Given the description of an element on the screen output the (x, y) to click on. 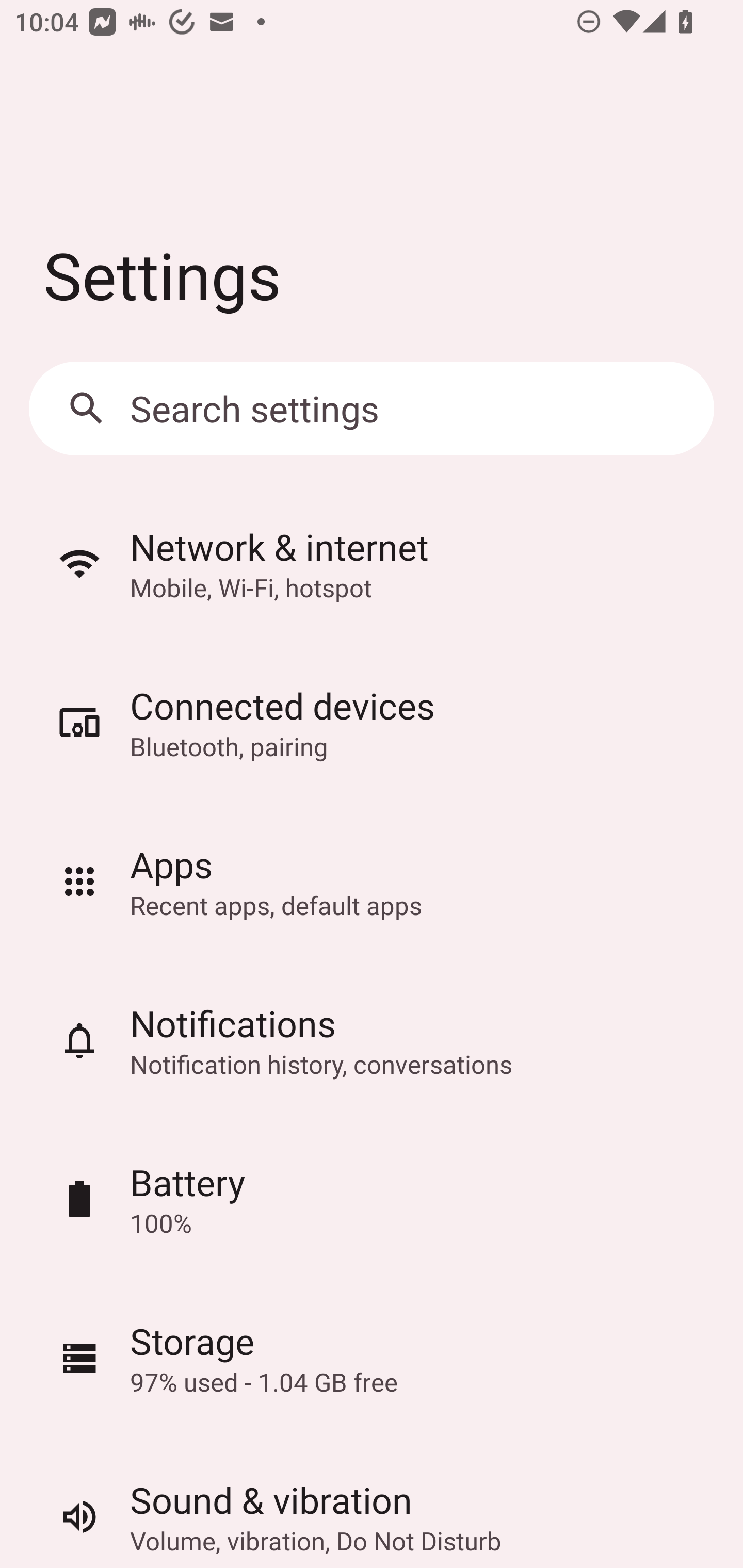
Search settings (371, 408)
Network & internet Mobile, Wi‑Fi, hotspot (371, 563)
Connected devices Bluetooth, pairing (371, 722)
Apps Recent apps, default apps (371, 881)
Notifications Notification history, conversations (371, 1040)
Battery 100% (371, 1198)
Storage 97% used - 1.04 GB free (371, 1357)
